Given the description of an element on the screen output the (x, y) to click on. 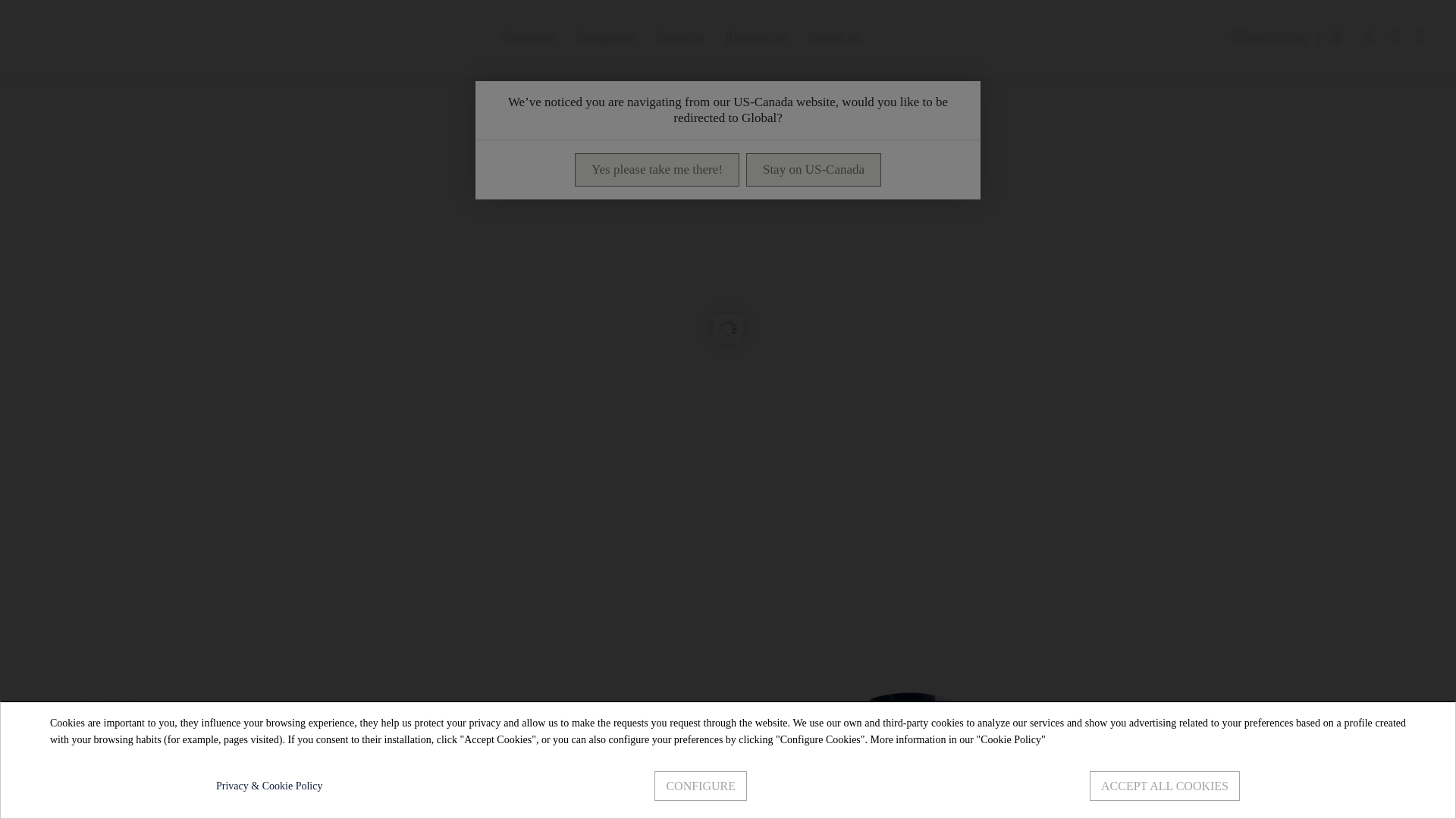
Resources (755, 37)
Products (529, 37)
Log in to your customer account (1368, 37)
About us (834, 37)
Designers (604, 37)
Projects (679, 37)
